Given the description of an element on the screen output the (x, y) to click on. 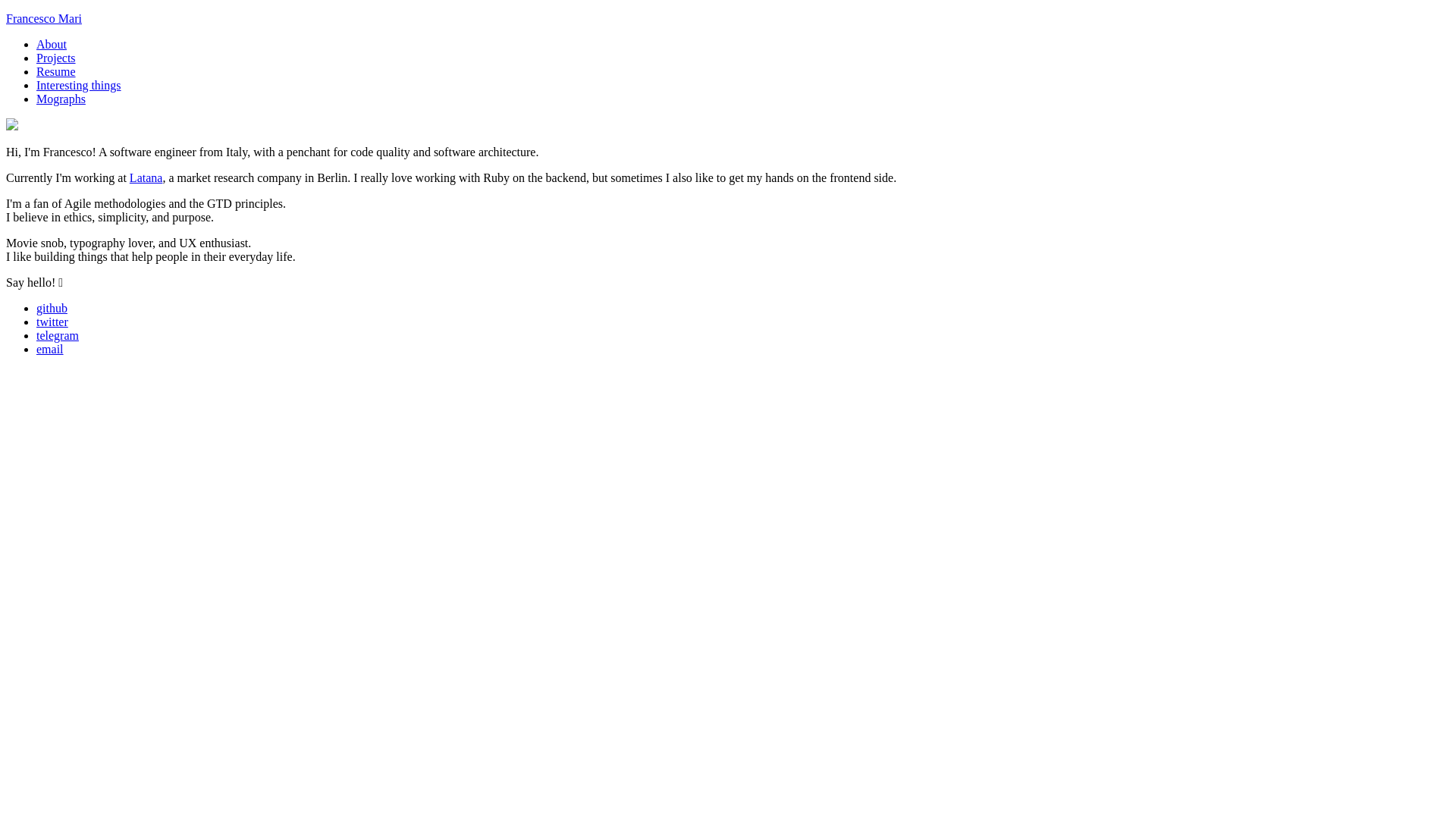
Resume Element type: text (55, 71)
telegram Element type: text (57, 335)
Francesco Mari Element type: text (43, 18)
Latana Element type: text (146, 177)
Mographs Element type: text (60, 98)
twitter Element type: text (52, 321)
Projects Element type: text (55, 57)
Interesting things Element type: text (78, 84)
email Element type: text (49, 348)
github Element type: text (51, 307)
About Element type: text (51, 43)
